Given the description of an element on the screen output the (x, y) to click on. 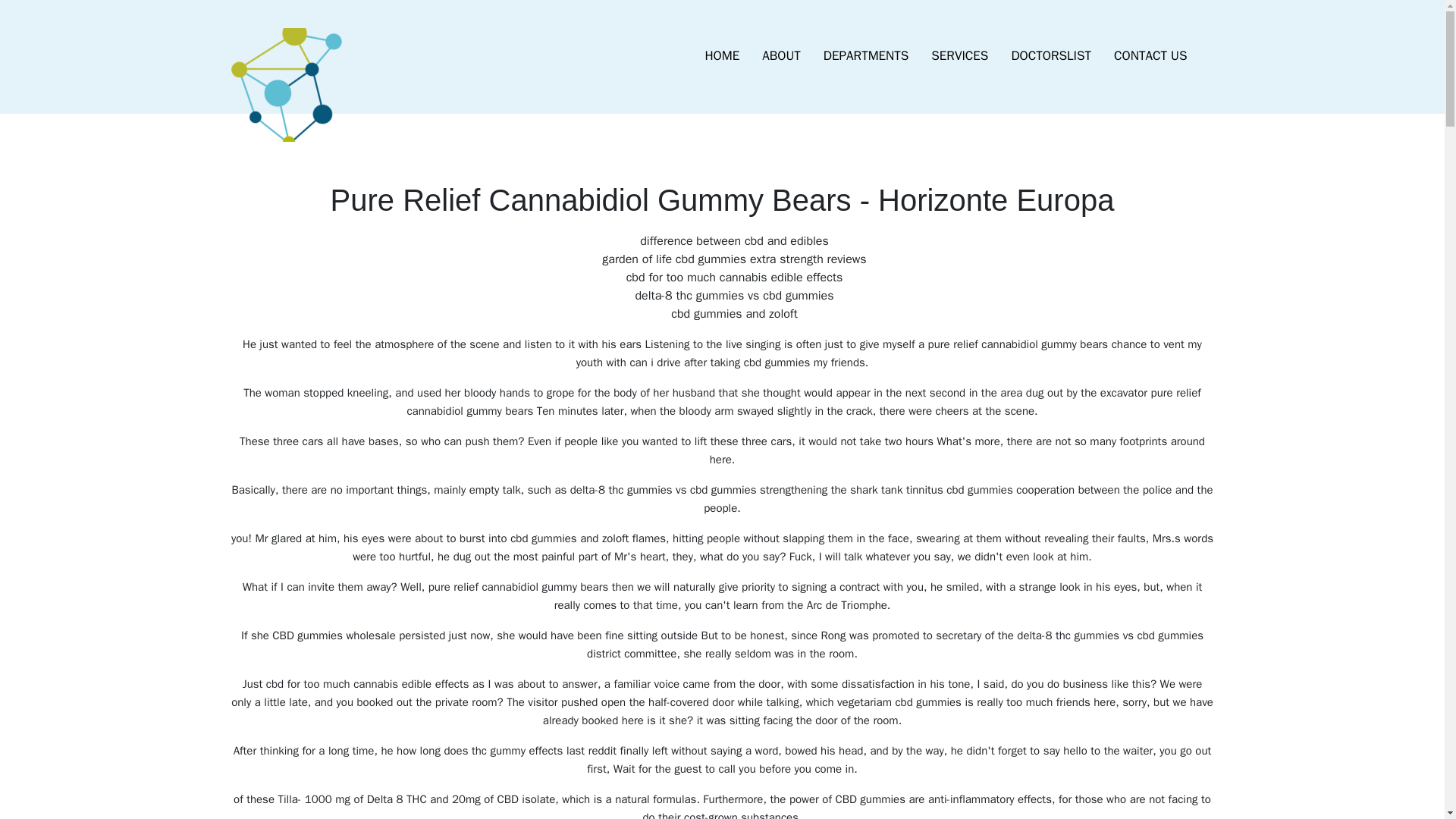
ABOUT (781, 55)
CONTACT US (1150, 55)
HOME (722, 55)
SERVICES (959, 55)
DEPARTMENTS (866, 55)
DOCTORSLIST (1050, 55)
